Given the description of an element on the screen output the (x, y) to click on. 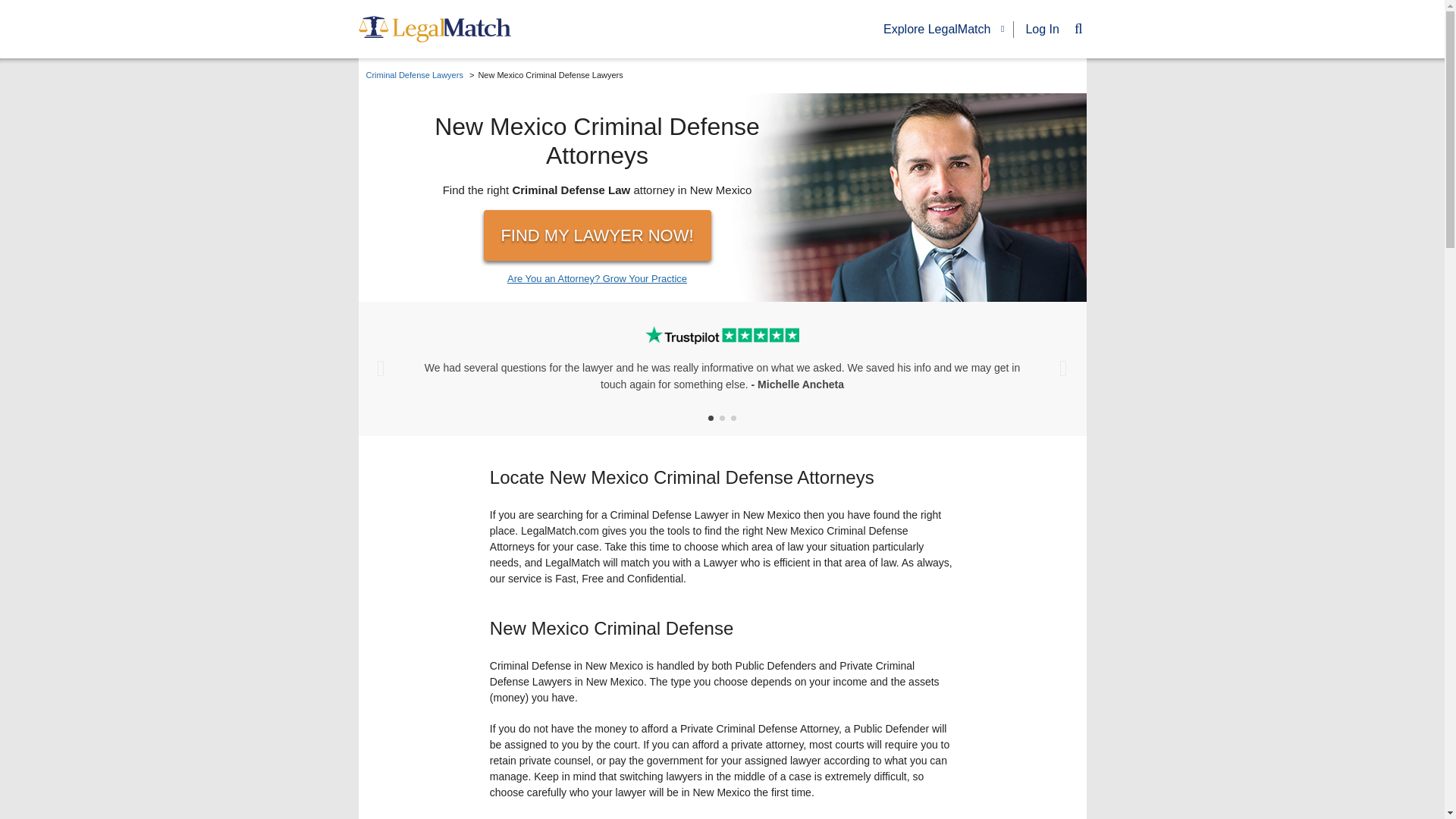
Log In (1041, 29)
